Given the description of an element on the screen output the (x, y) to click on. 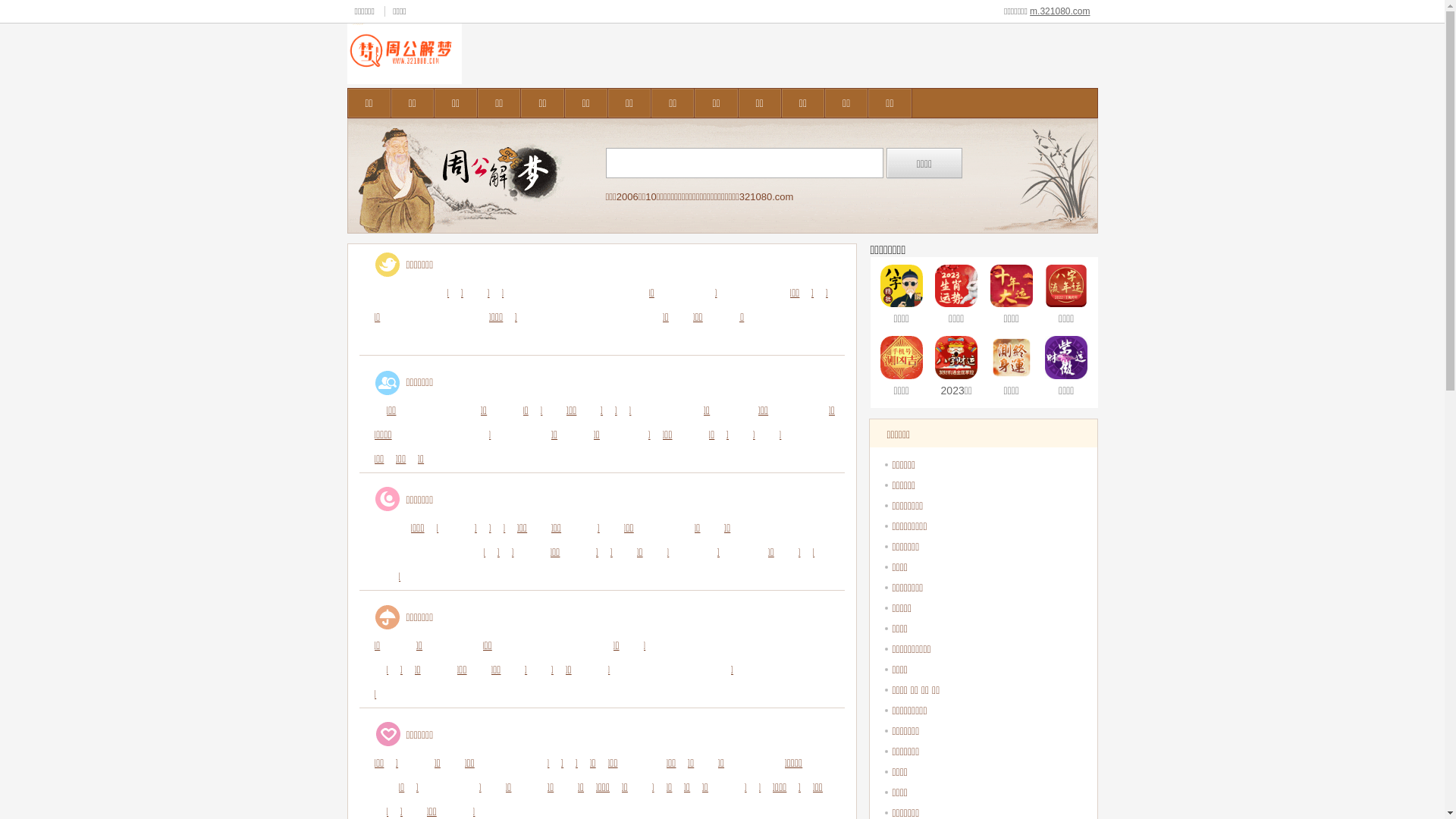
m.321080.com Element type: text (1059, 11)
